Given the description of an element on the screen output the (x, y) to click on. 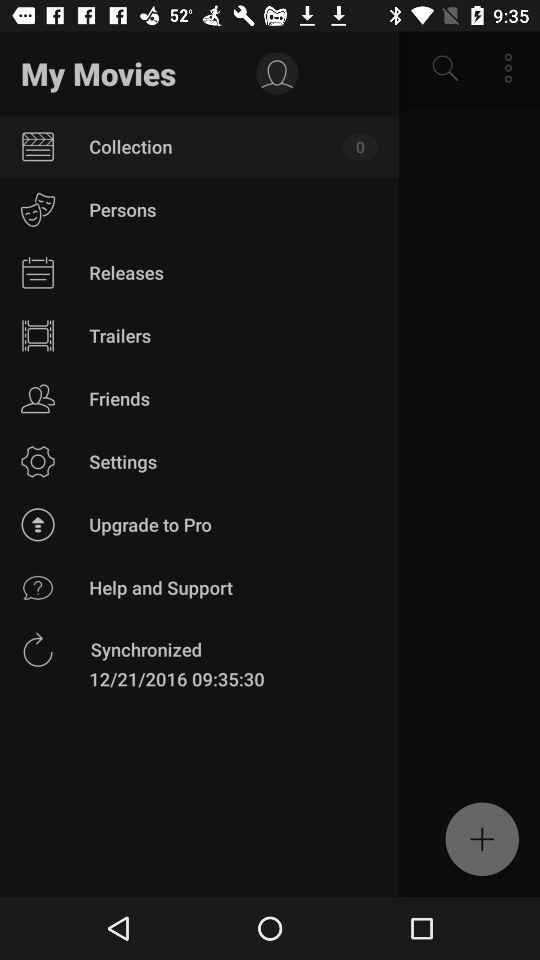
select the icon which is next to the text my movies (276, 73)
select the search icon which is before the menu icon (445, 68)
click to profile (276, 73)
